Given the description of an element on the screen output the (x, y) to click on. 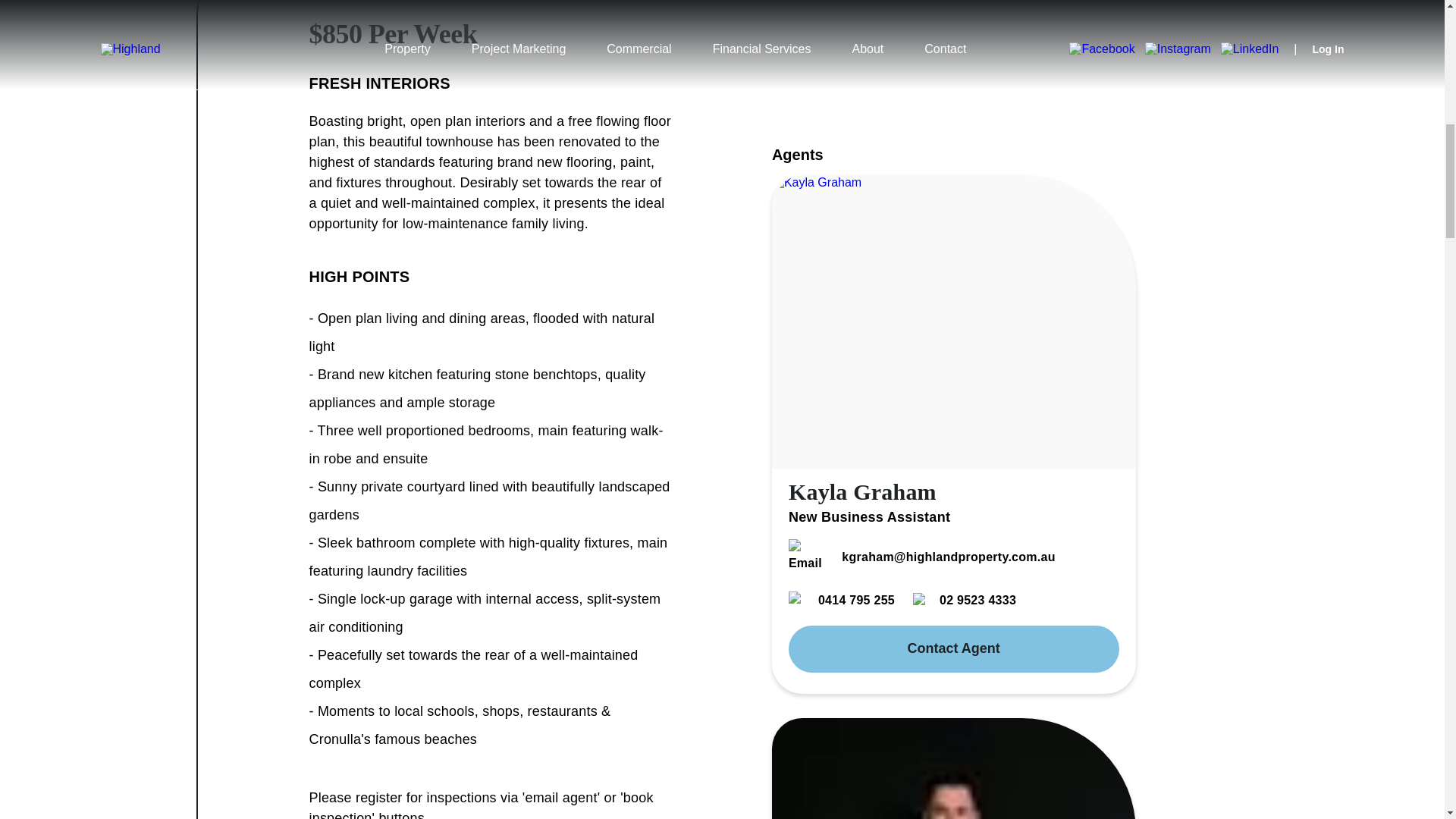
Kayla Graham (862, 491)
Contact Agent (954, 648)
02 9523 4333 (964, 599)
0414 795 255 (842, 599)
